Given the description of an element on the screen output the (x, y) to click on. 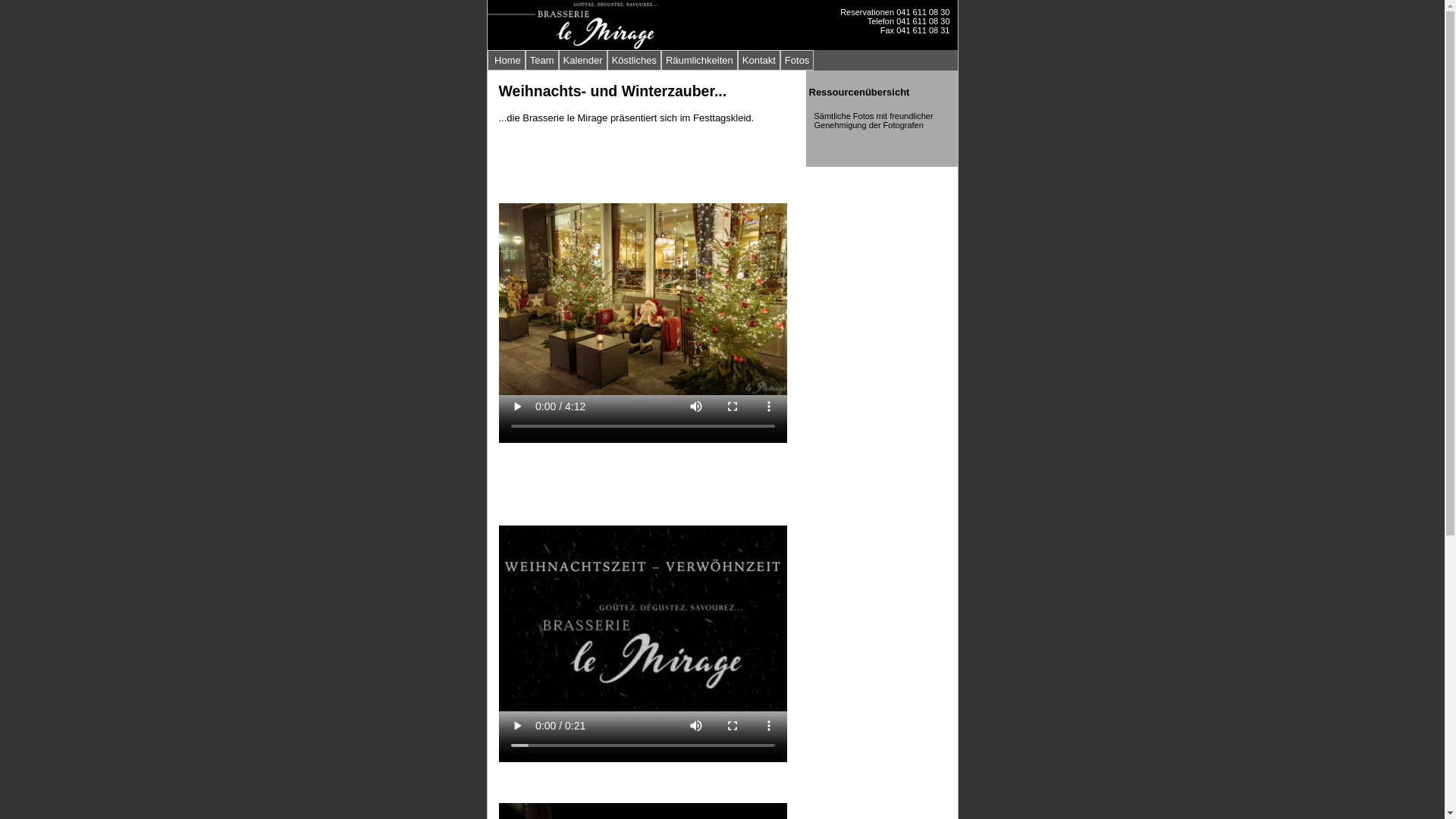
Fotos Element type: text (797, 60)
Kalender Element type: text (582, 60)
Kontakt Element type: text (758, 60)
Team Element type: text (541, 60)
 Home Element type: text (505, 60)
